Given the description of an element on the screen output the (x, y) to click on. 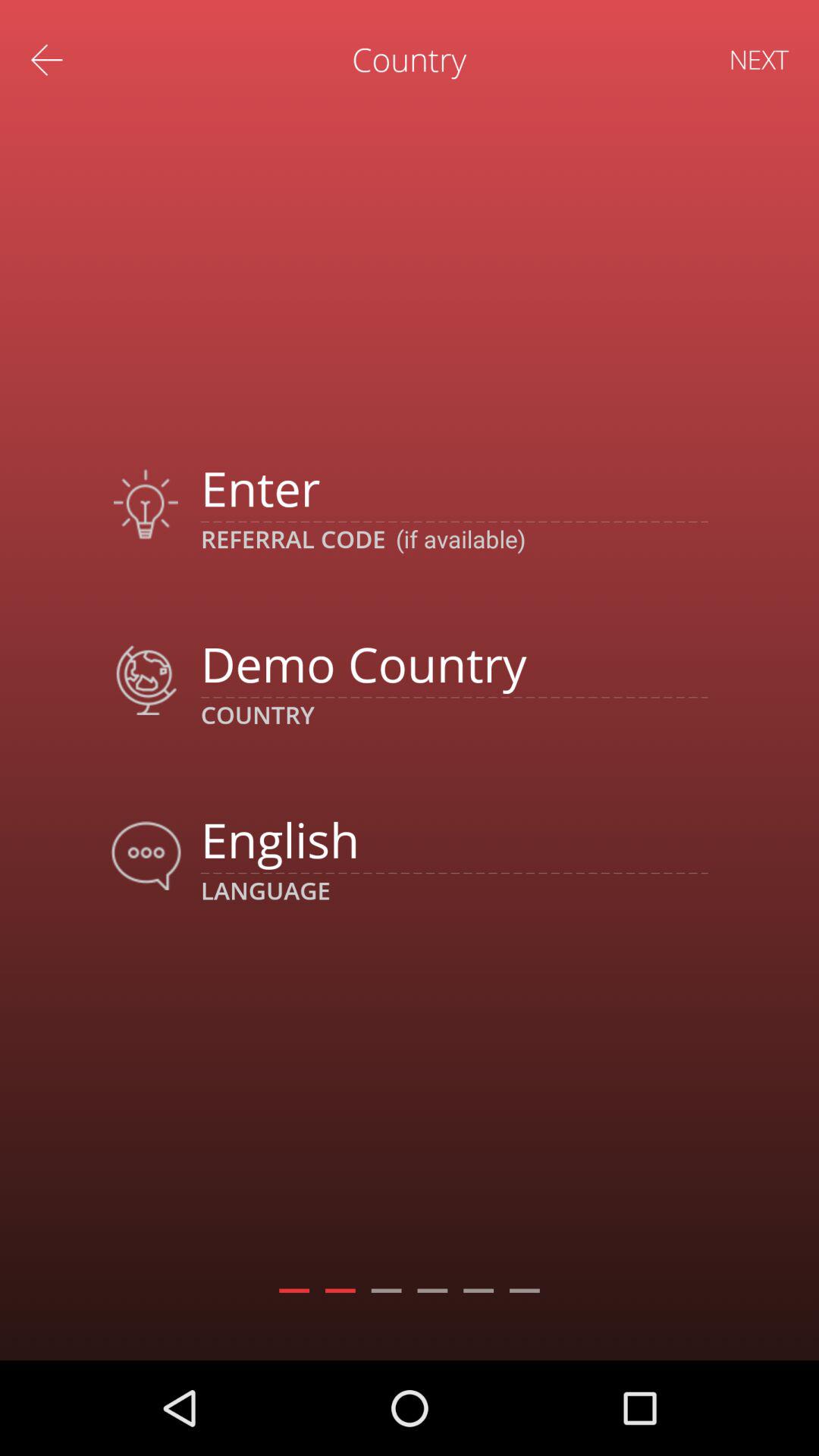
open item below referral code item (454, 663)
